Given the description of an element on the screen output the (x, y) to click on. 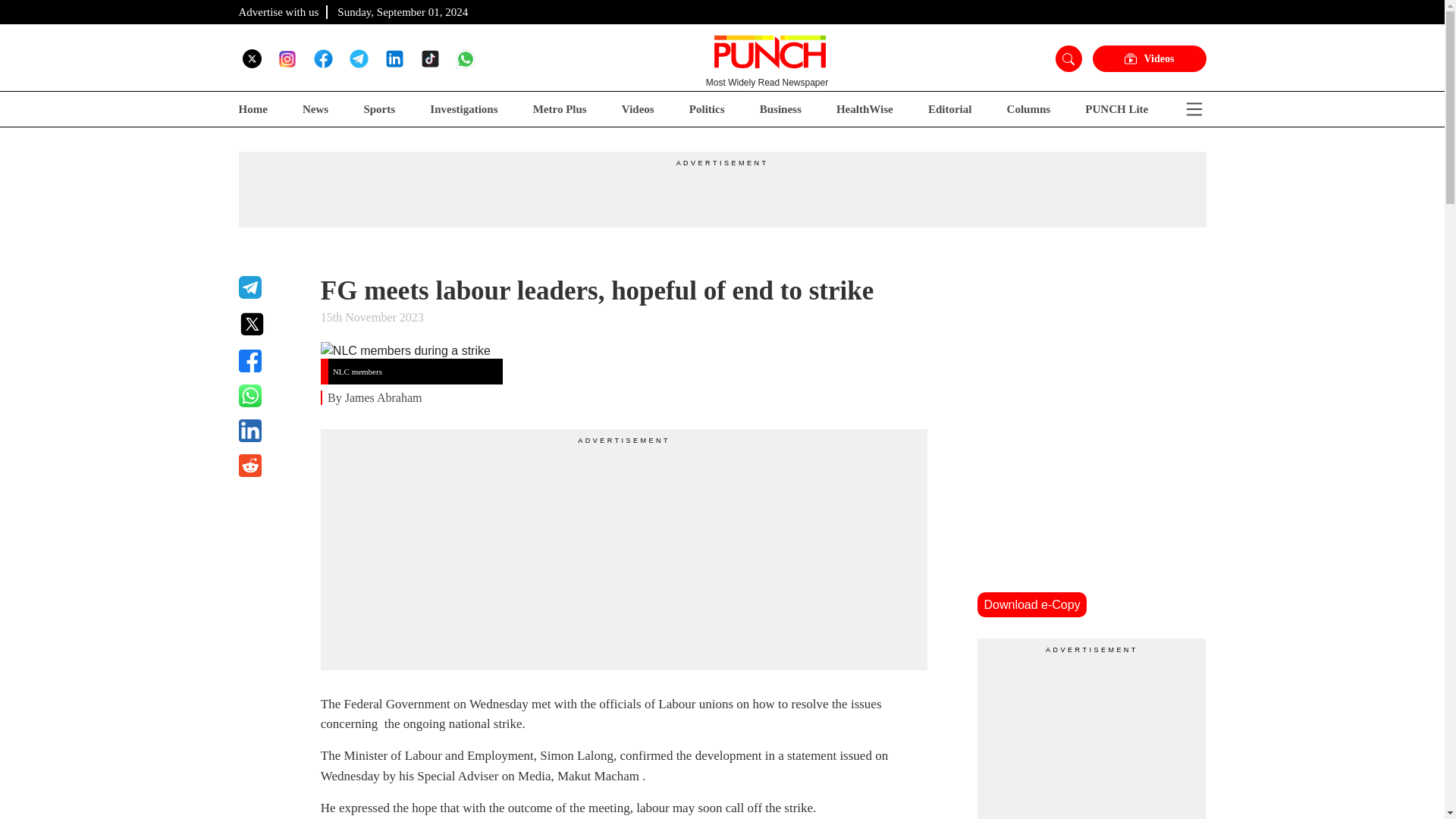
Editorial (950, 109)
Business (781, 109)
PUNCH Lite (1116, 109)
Follow us on Linkedin (395, 58)
Follow Our Channel on Telegram (358, 58)
Share on Telegram (269, 287)
HealthWise (864, 109)
Follow Us on Instagram (287, 58)
Videos (1148, 58)
Share on Facbook (269, 360)
